Given the description of an element on the screen output the (x, y) to click on. 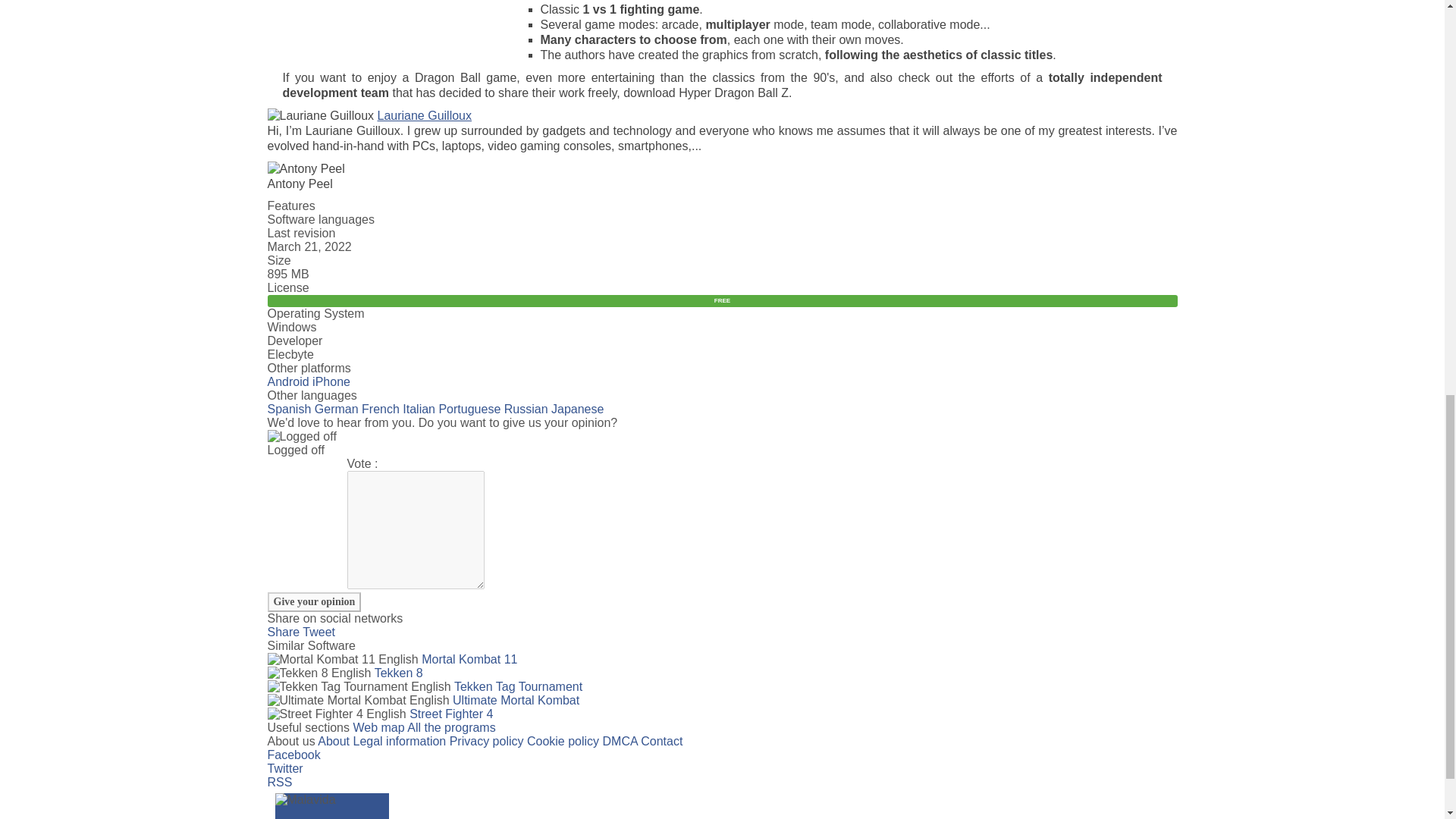
Lauriane Guilloux (424, 115)
Give your opinion (313, 601)
French (379, 408)
Japanese (577, 408)
Android (287, 381)
Download DRAGON BALL LEGENDS free for Android (287, 381)
Italian (419, 408)
iPhone (331, 381)
Spanish (288, 408)
German (336, 408)
